Given the description of an element on the screen output the (x, y) to click on. 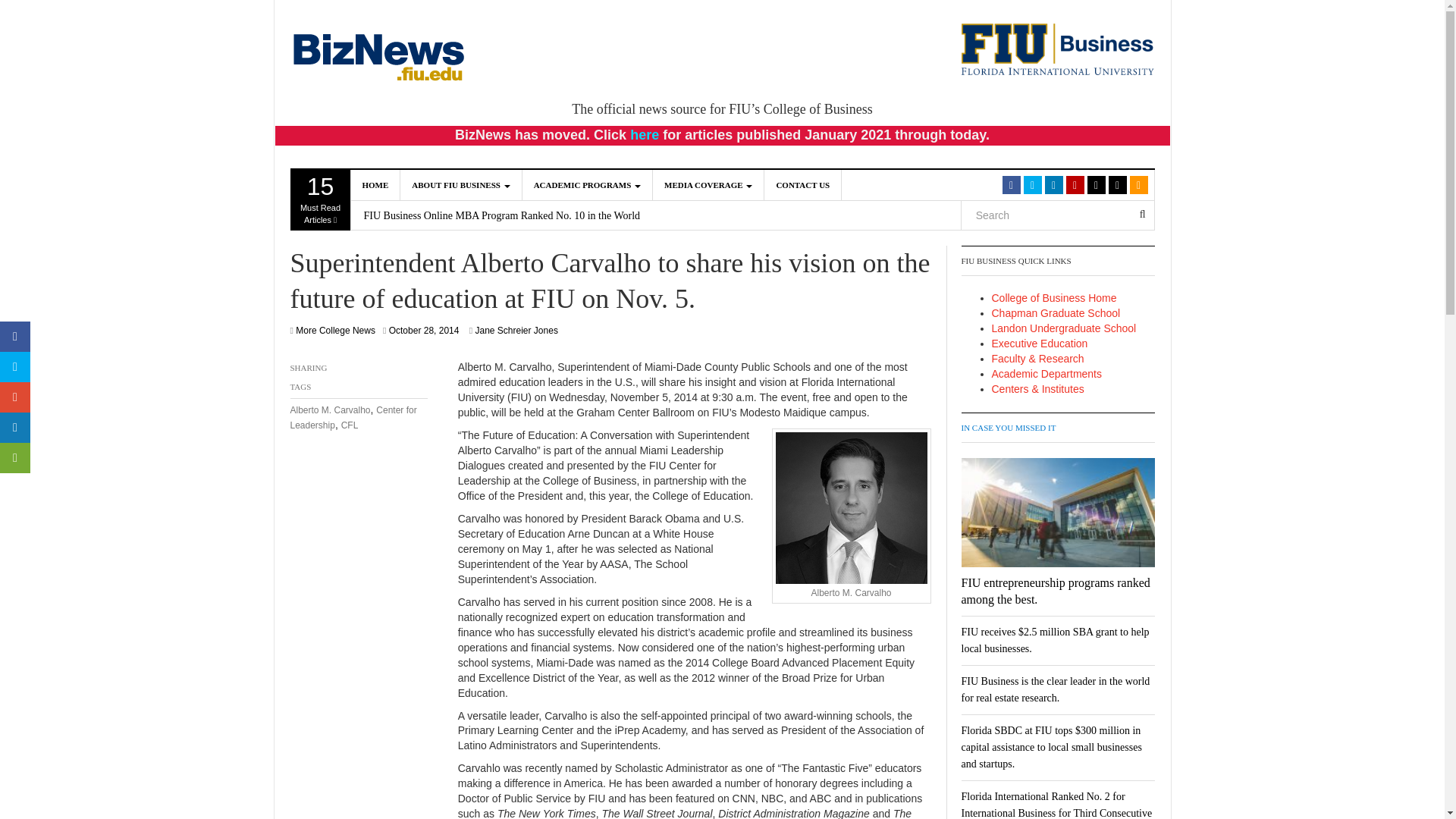
carvalho (850, 507)
MEDIA COVERAGE (708, 184)
ACADEMIC PROGRAMS (587, 184)
here (644, 134)
ABOUT FIU BUSINESS (460, 184)
HOME (375, 184)
